Given the description of an element on the screen output the (x, y) to click on. 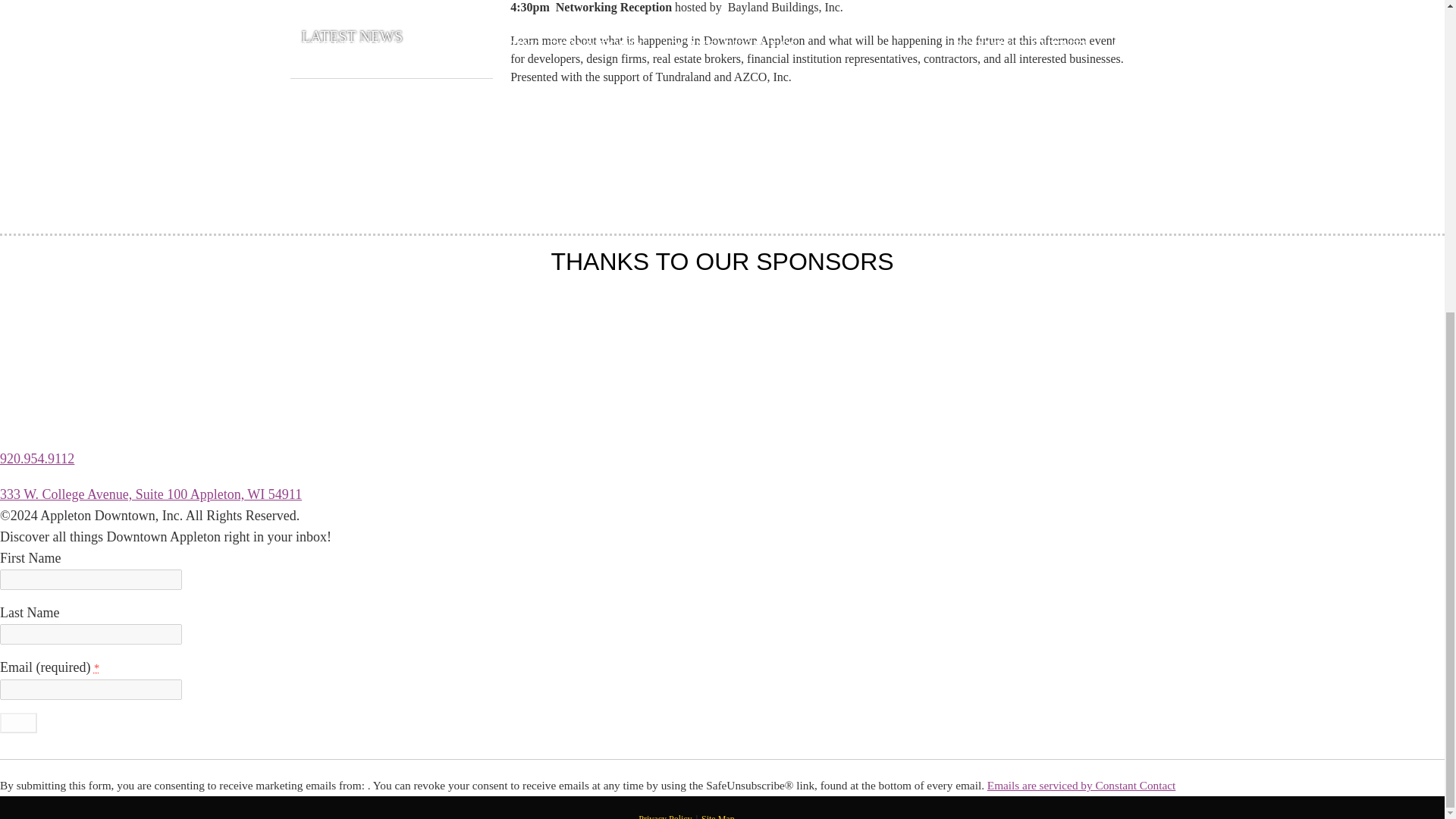
GO! (18, 722)
